Given the description of an element on the screen output the (x, y) to click on. 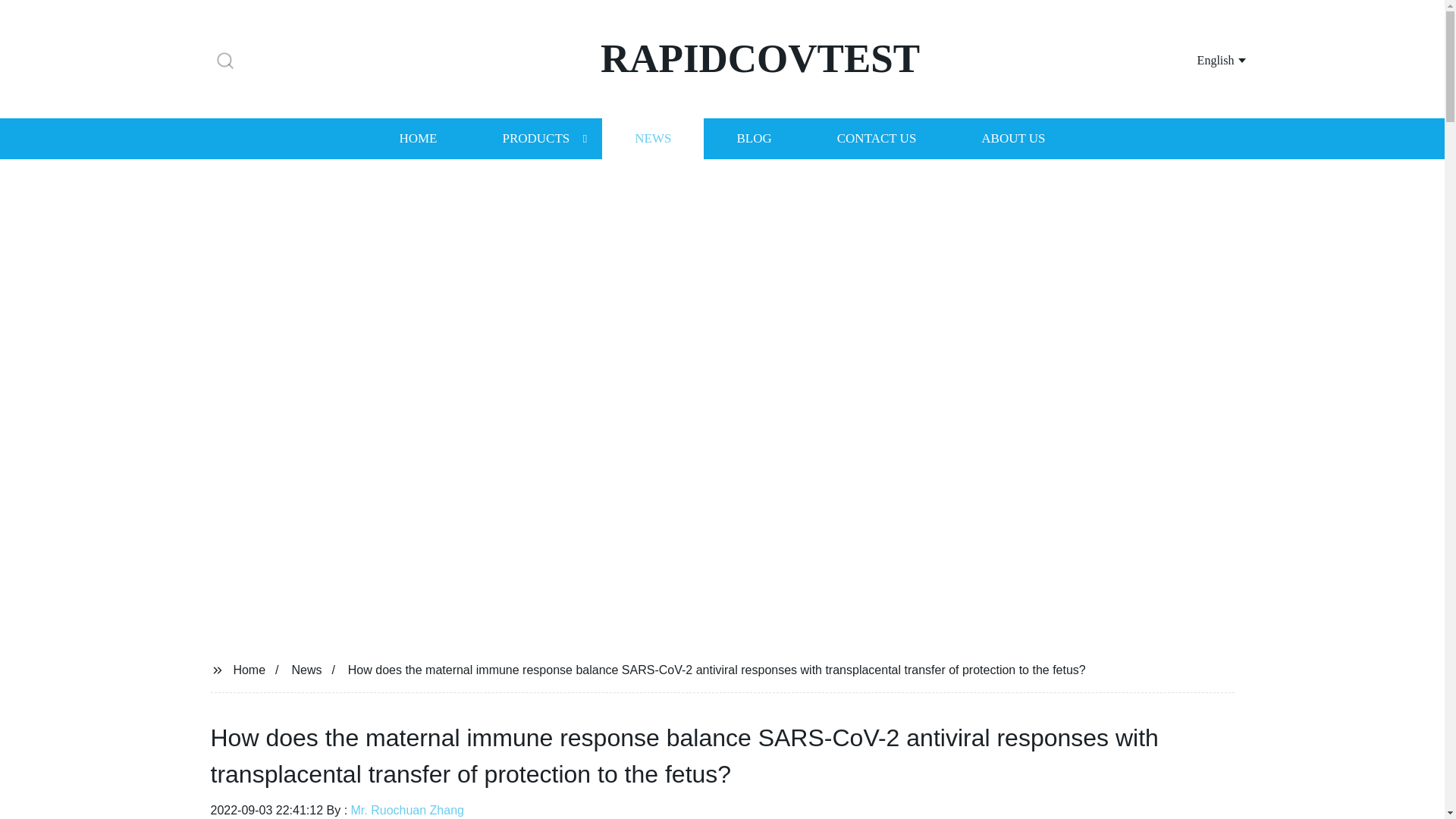
ABOUT US (1013, 137)
HOME (417, 137)
BLOG (753, 137)
English (1203, 59)
CONTACT US (877, 137)
NEWS (652, 137)
PRODUCTS (535, 137)
Home (248, 668)
News (306, 668)
English (1203, 59)
